Given the description of an element on the screen output the (x, y) to click on. 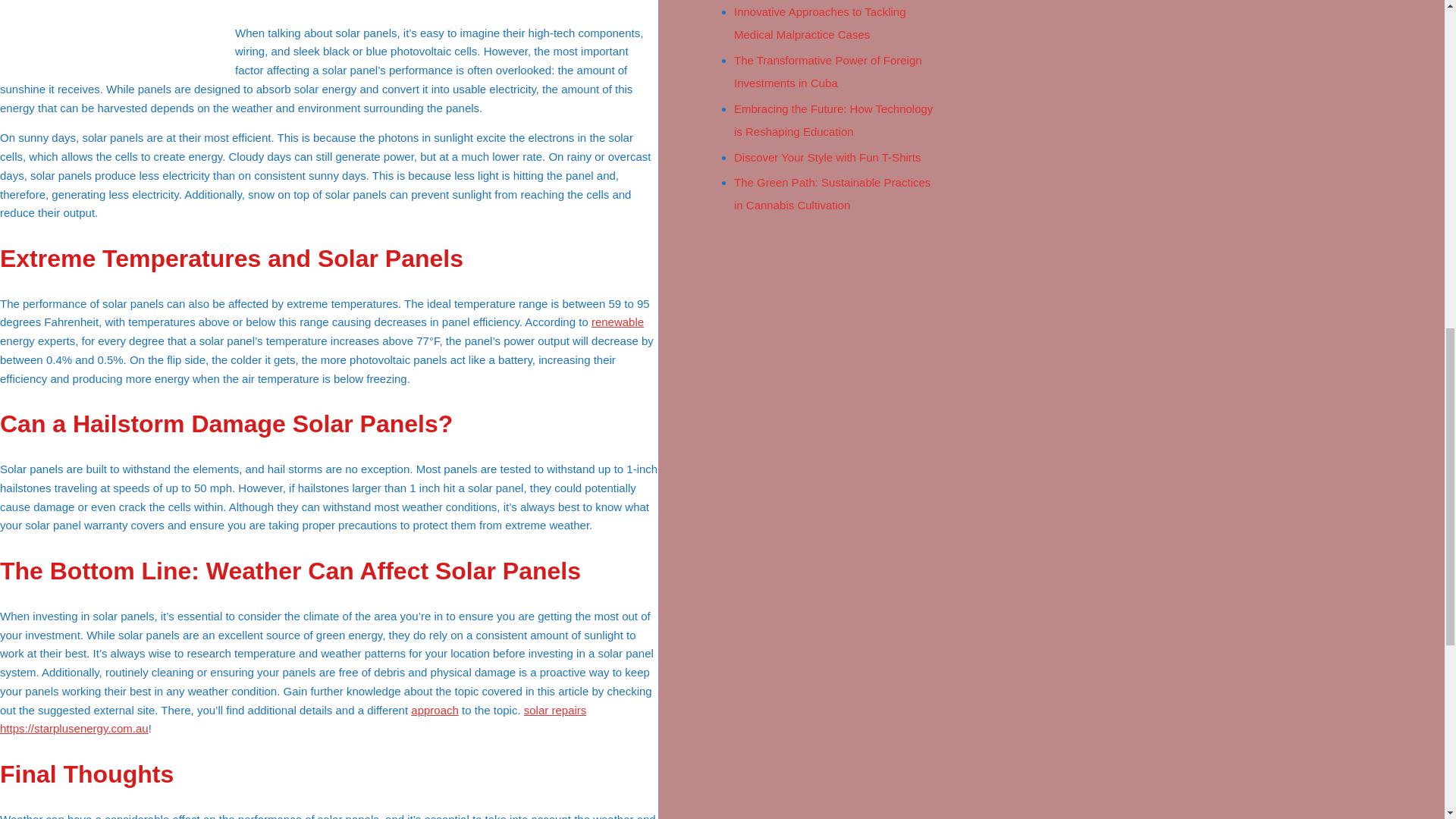
The Transformative Power of Foreign Investments in Cuba (827, 71)
Embracing the Future: How Technology is Reshaping Education (833, 120)
approach (434, 709)
Innovative Approaches to Tackling Medical Malpractice Cases (819, 22)
Discover Your Style with Fun T-Shirts (827, 156)
renewable (617, 321)
